Given the description of an element on the screen output the (x, y) to click on. 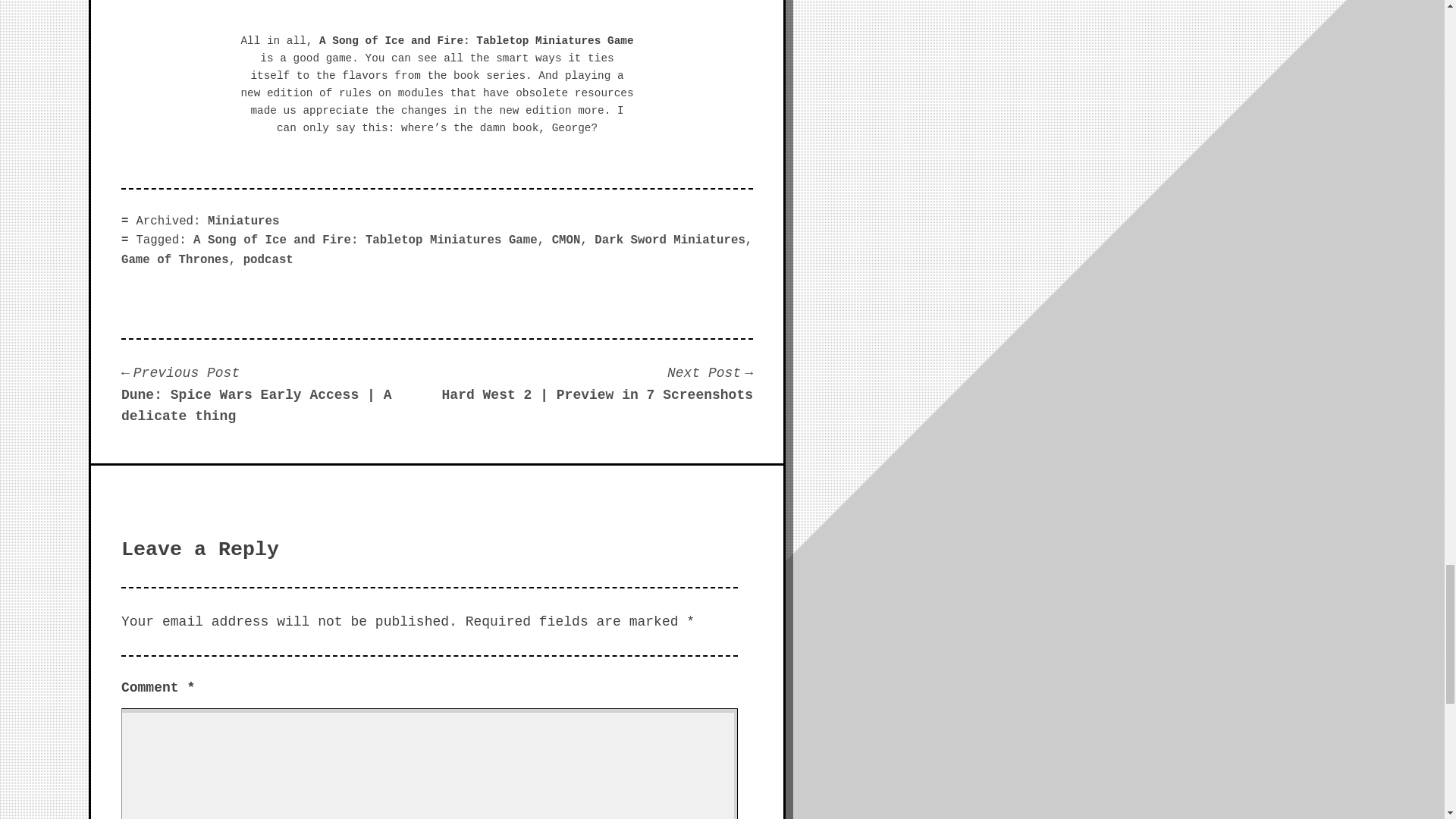
CMON (565, 240)
Game of Thrones (174, 259)
Dark Sword Miniatures (669, 240)
podcast (268, 259)
A Song of Ice and Fire: Tabletop Miniatures Game (365, 240)
Miniatures (243, 221)
